Given the description of an element on the screen output the (x, y) to click on. 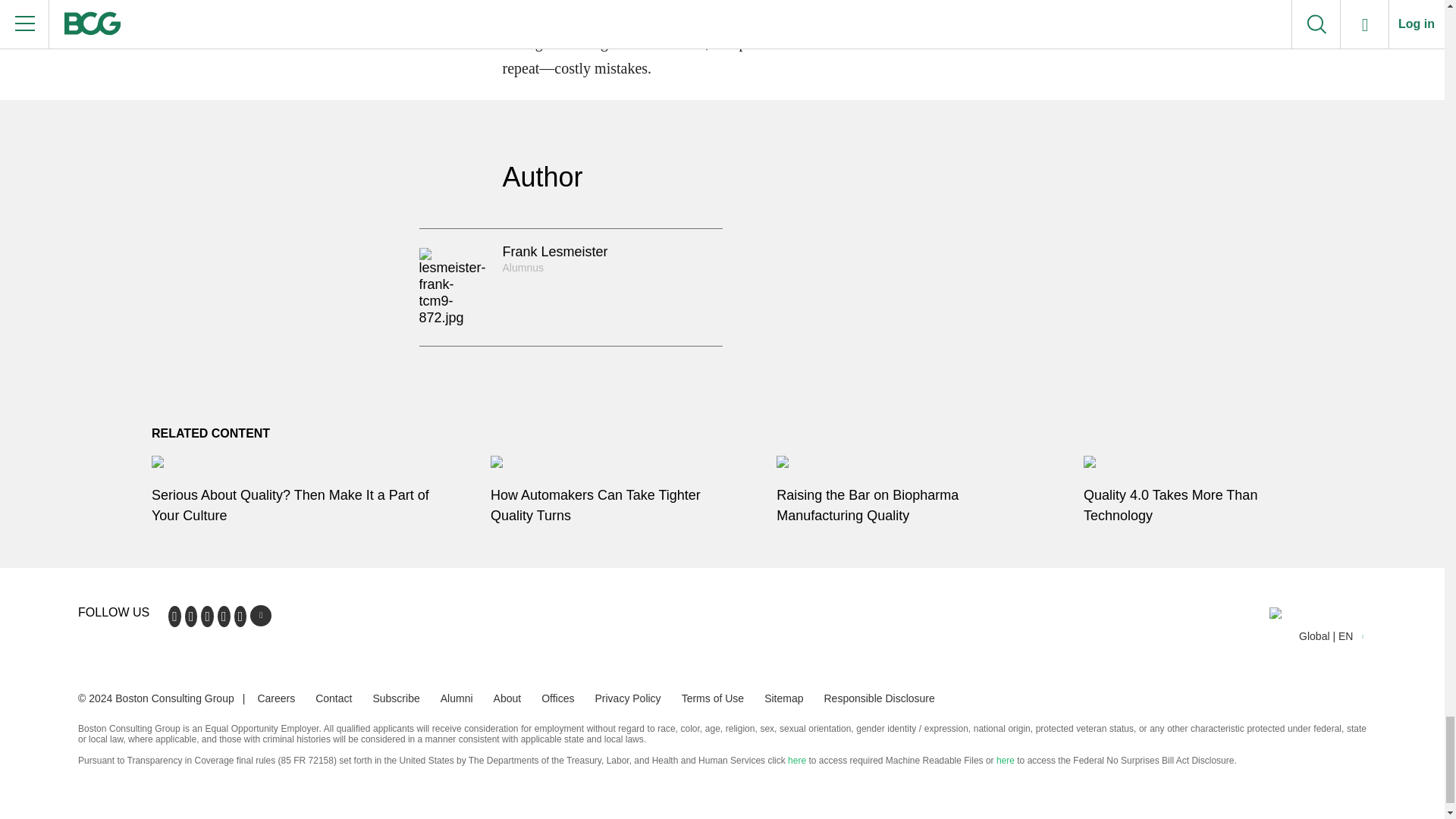
Serious About Quality? Then Make It a Part of Your Culture (302, 509)
Raising the Bar on Biopharma Manufacturing Quality (911, 509)
How Automakers Can Take Tighter Quality Turns (614, 509)
Quality 4.0 Takes More Than Technology (1187, 509)
